Given the description of an element on the screen output the (x, y) to click on. 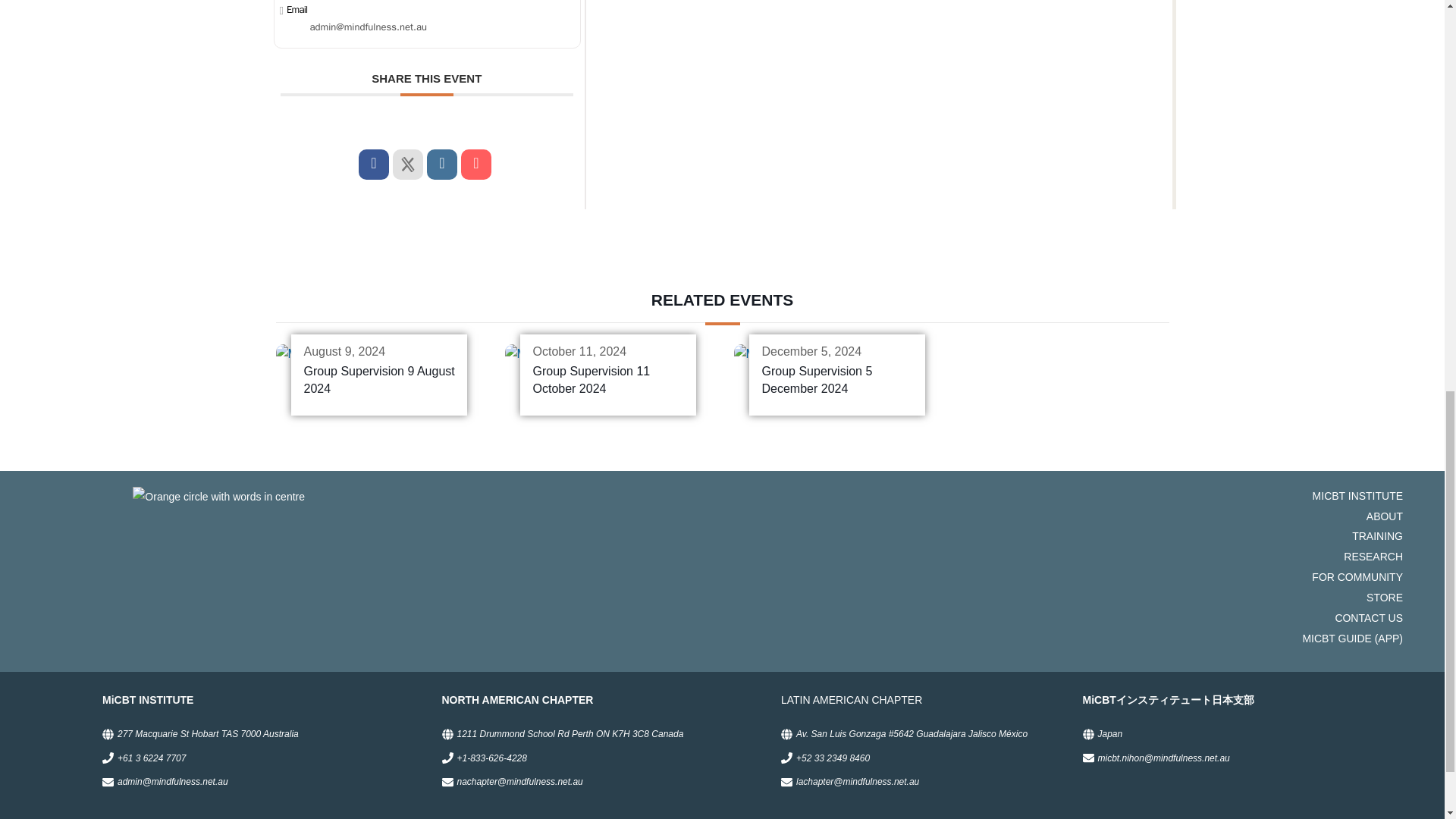
Linkedin (441, 164)
X Social Network (408, 164)
Share on Facebook (373, 164)
Email (476, 164)
